Given the description of an element on the screen output the (x, y) to click on. 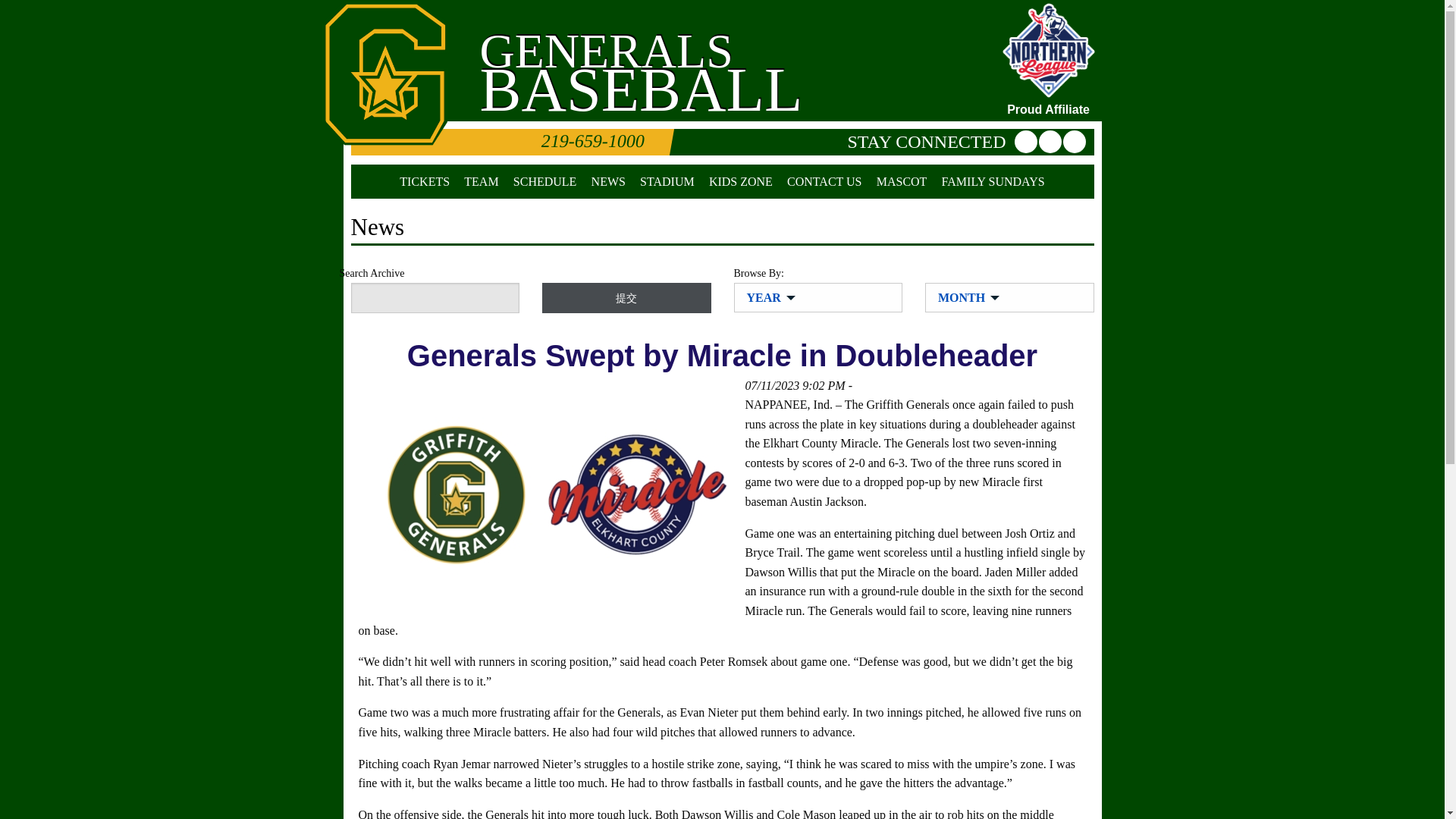
Proud Affiliate (1047, 59)
CONTACT US (823, 181)
MONTH (964, 297)
TICKETS (425, 181)
SCHEDULE (544, 181)
219-659-1000 (506, 141)
MASCOT (901, 181)
STADIUM (666, 181)
YEAR (765, 297)
NEWS (608, 181)
